Given the description of an element on the screen output the (x, y) to click on. 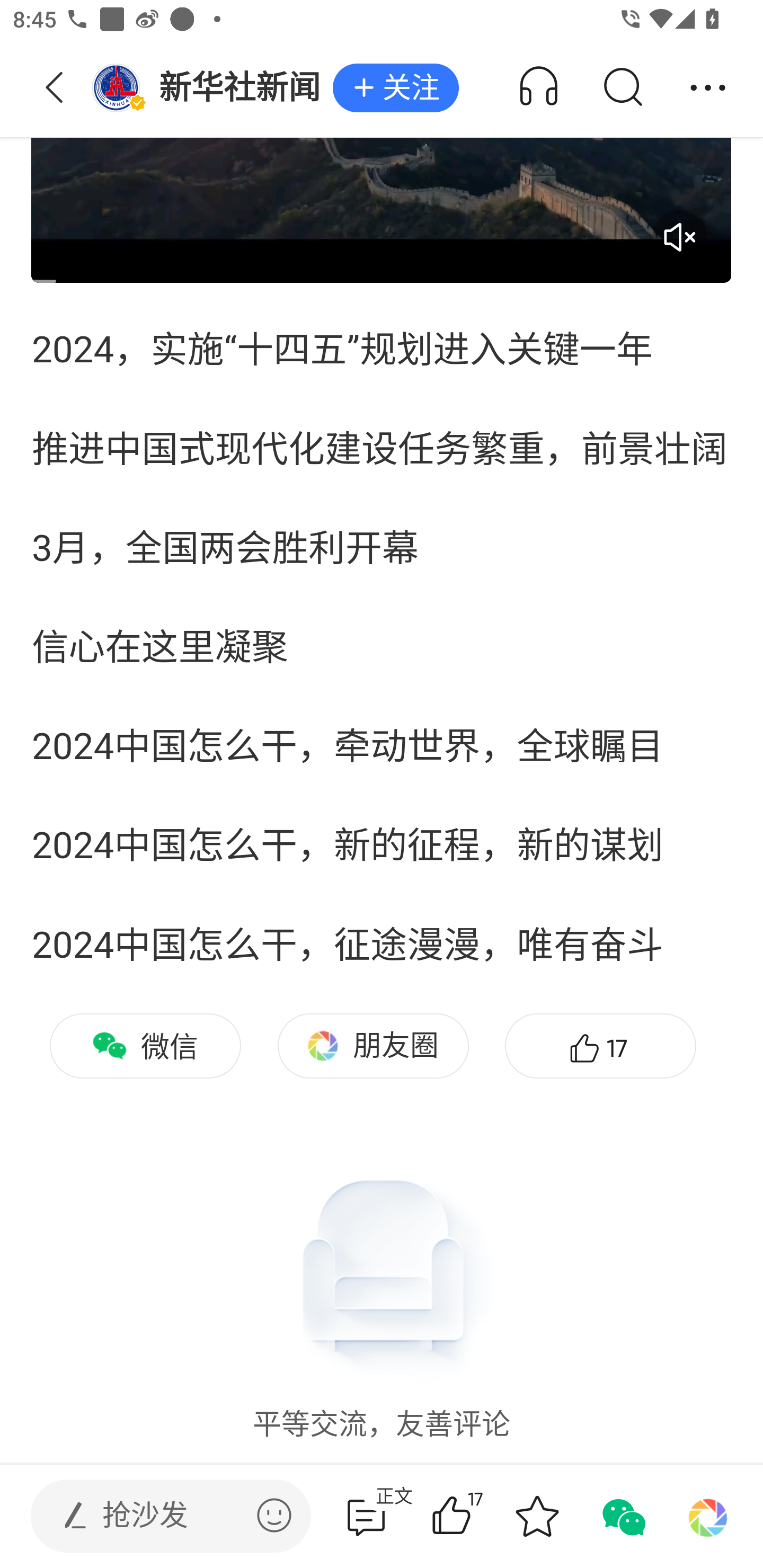
新华社新闻 (211, 87)
搜索  (622, 87)
分享  (707, 87)
 返回 (54, 87)
 关注 (395, 88)
音量开关 (679, 237)
微信 分享到微信 (145, 1045)
朋友圈 分享到朋友圈 (373, 1045)
17赞 (600, 1045)
平等交流，友善评论 (381, 1290)
发表评论  抢沙发 发表评论  (155, 1516)
抢评论  正文 正文 (365, 1516)
17赞 (476, 1516)
收藏  (536, 1516)
分享到微信  (622, 1516)
分享到朋友圈 (707, 1516)
 (274, 1515)
